Given the description of an element on the screen output the (x, y) to click on. 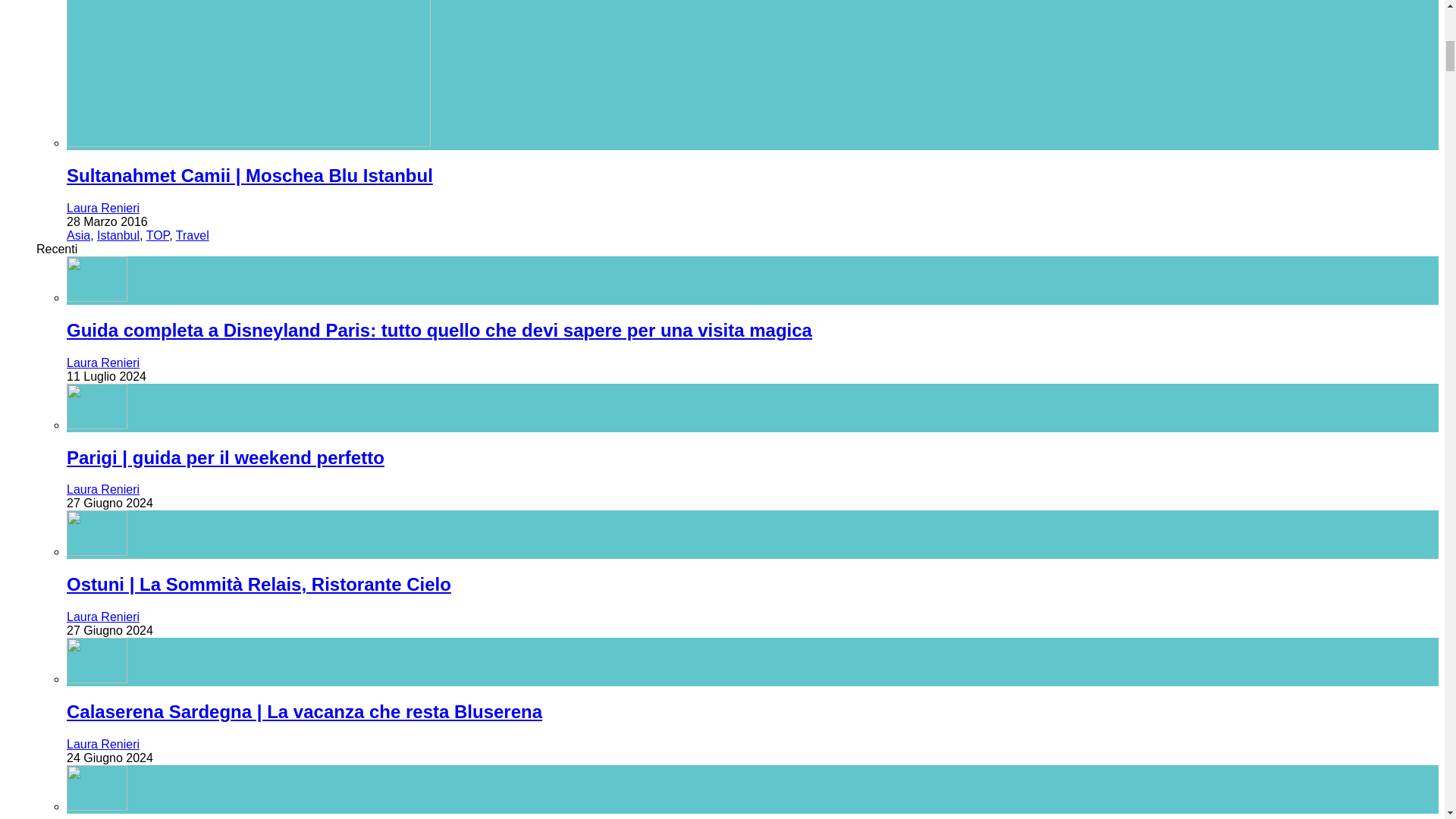
Guarda tutti i post in Istanbul (118, 235)
Guarda tutti i post in TOP (158, 235)
Guarda tutti i post in Asia (78, 235)
Guarda tutti i post in Travel (192, 235)
